Given the description of an element on the screen output the (x, y) to click on. 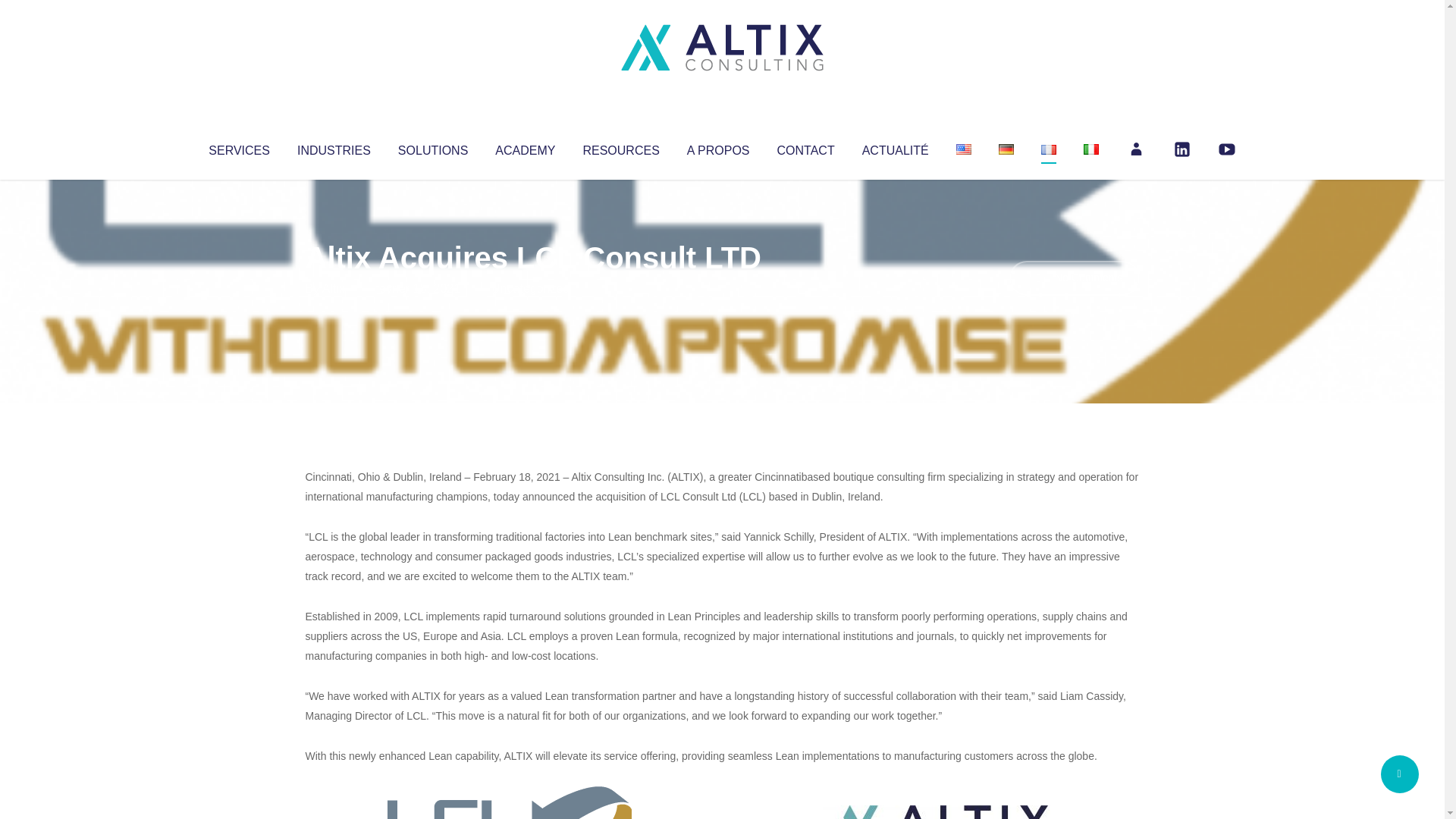
SOLUTIONS (432, 146)
Uncategorized (530, 287)
Articles par Altix (333, 287)
Altix (333, 287)
A PROPOS (718, 146)
ACADEMY (524, 146)
No Comments (1073, 278)
INDUSTRIES (334, 146)
SERVICES (238, 146)
RESOURCES (620, 146)
